Given the description of an element on the screen output the (x, y) to click on. 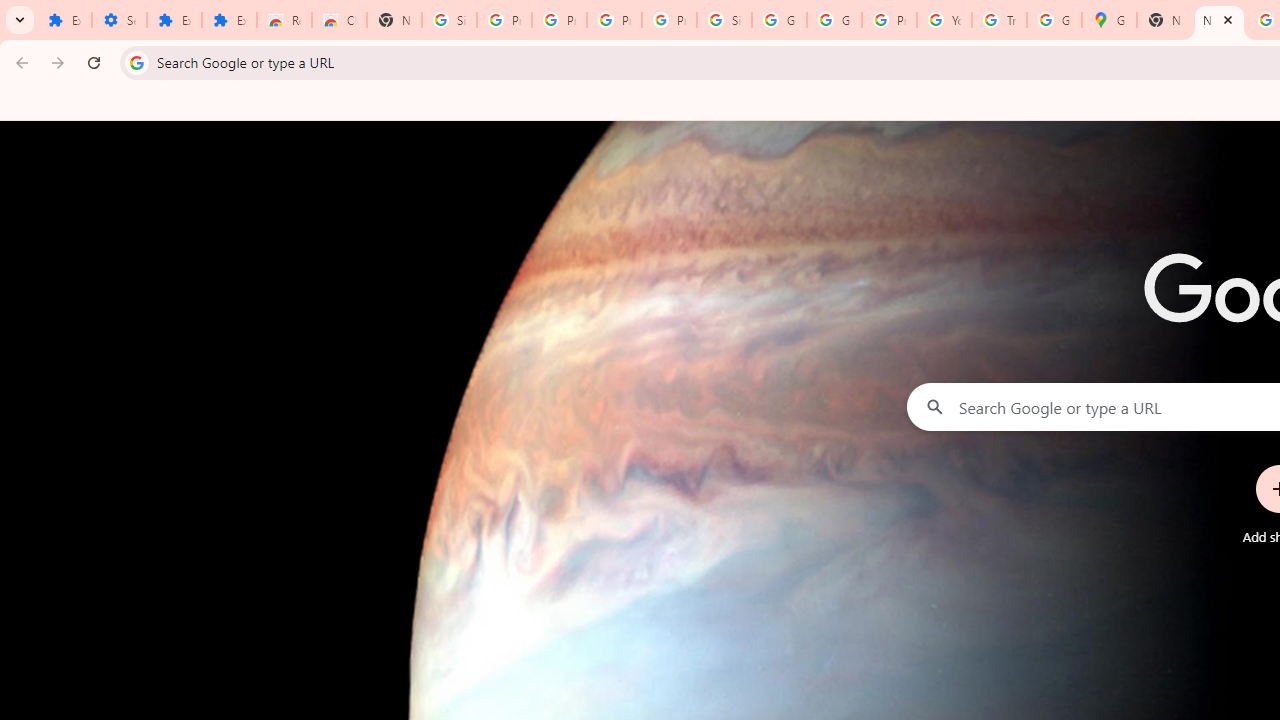
Search tabs (20, 20)
Reload (93, 62)
Close (1227, 19)
System (10, 11)
New Tab (1163, 20)
Back (19, 62)
Reviews: Helix Fruit Jump Arcade Game (284, 20)
Extensions (64, 20)
YouTube (943, 20)
